Given the description of an element on the screen output the (x, y) to click on. 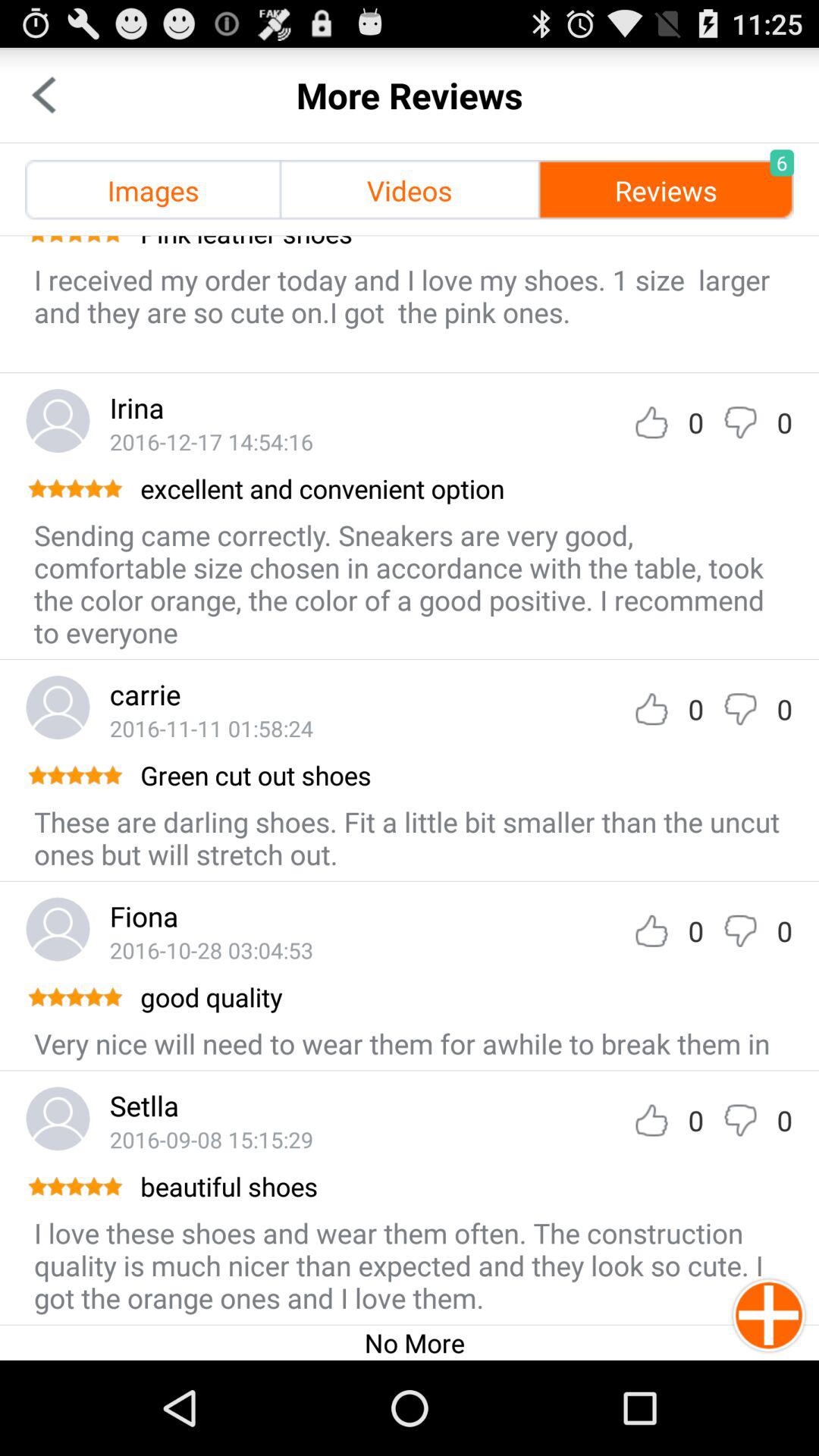
press app above sending came correctly icon (465, 488)
